Given the description of an element on the screen output the (x, y) to click on. 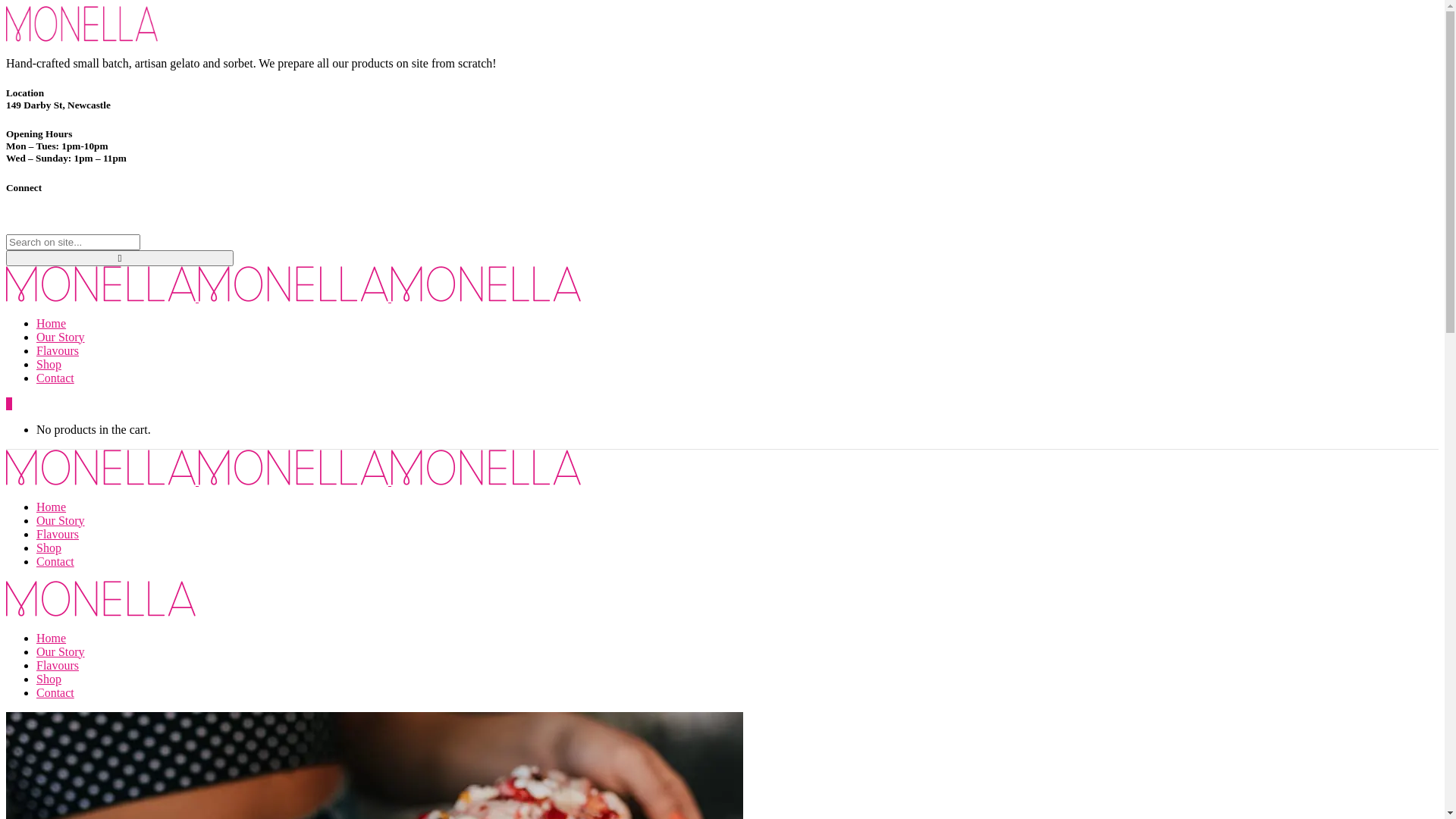
Flavours Element type: text (57, 350)
Our Story Element type: text (60, 651)
Home Element type: text (50, 637)
Our Story Element type: text (60, 336)
Flavours Element type: text (57, 664)
Contact Element type: text (55, 692)
Shop Element type: text (48, 547)
Home Element type: text (50, 506)
Shop Element type: text (48, 678)
Contact Element type: text (55, 377)
Shop Element type: text (48, 363)
Flavours Element type: text (57, 533)
Home Element type: text (50, 322)
Our Story Element type: text (60, 520)
Contact Element type: text (55, 561)
0 Element type: text (9, 403)
